Given the description of an element on the screen output the (x, y) to click on. 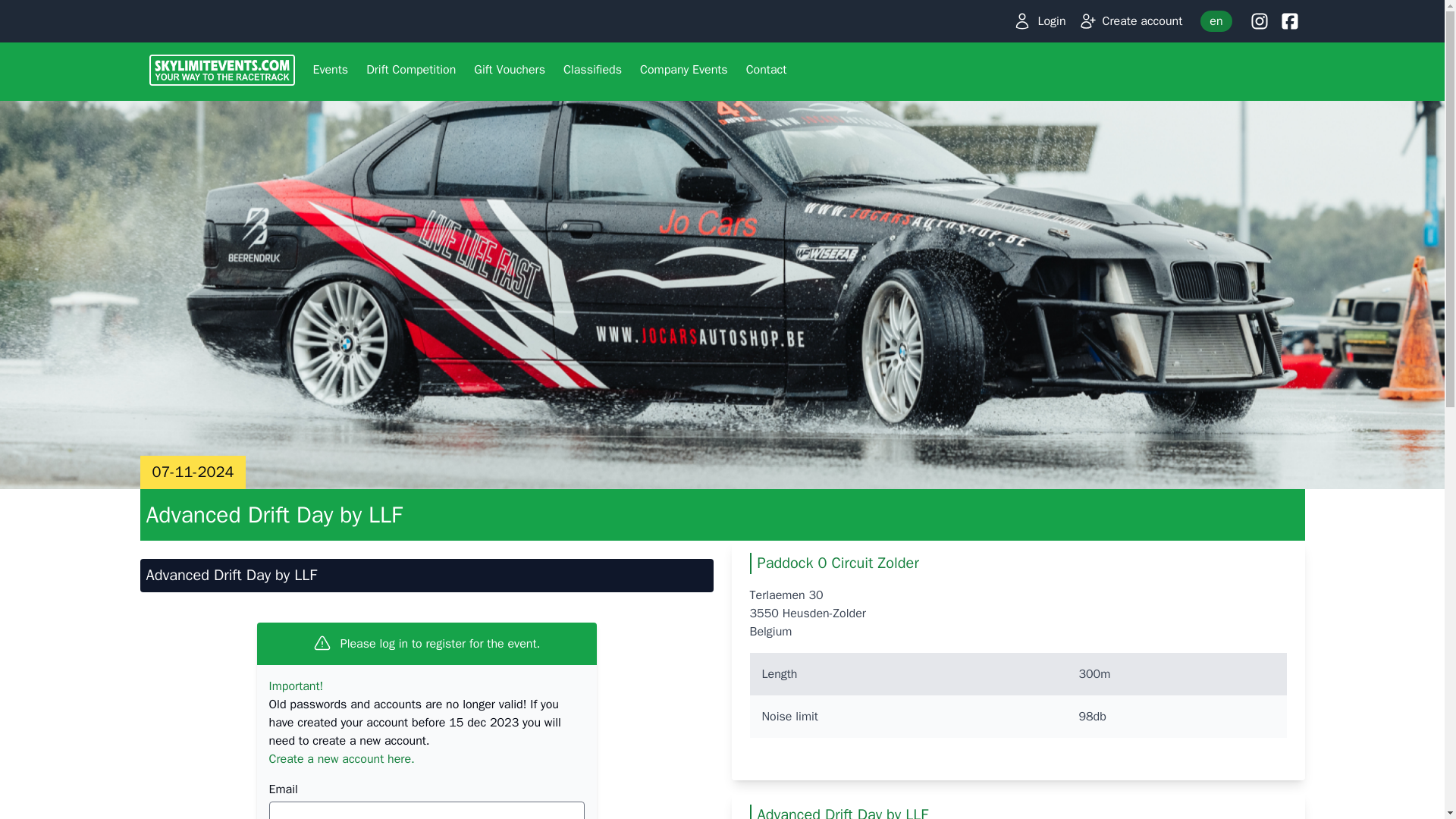
Classifieds (592, 70)
Create account (1130, 20)
Contact (766, 70)
Drift Competition (410, 70)
Login (1039, 20)
Company Events (683, 70)
Gift Vouchers (509, 70)
en (1215, 21)
